Given the description of an element on the screen output the (x, y) to click on. 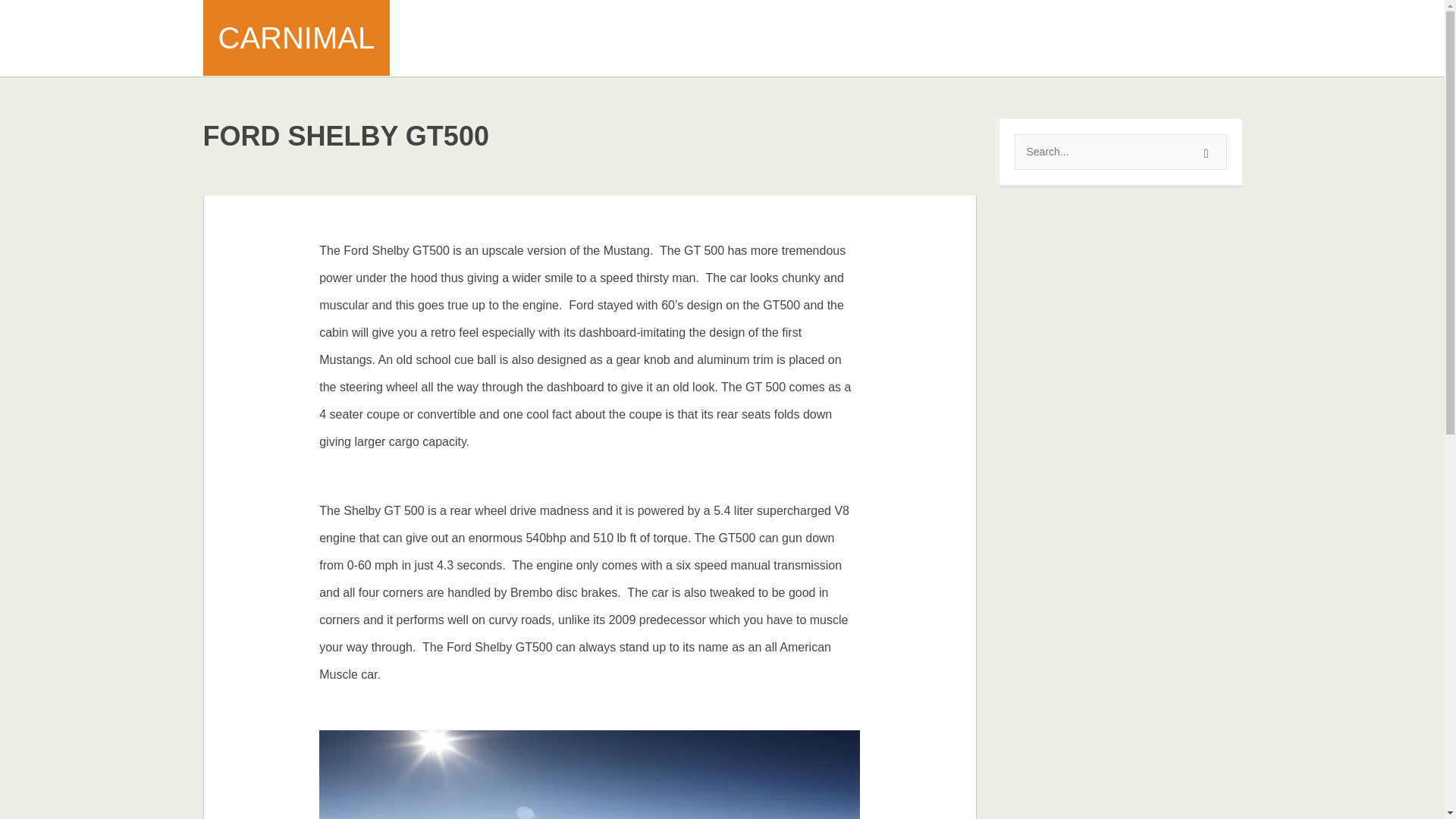
CARNIMAL (296, 37)
Ford Shelby GT500 (346, 135)
FORD SHELBY GT500 (346, 135)
Resized-P949X (589, 774)
Advertisement (964, 38)
